Given the description of an element on the screen output the (x, y) to click on. 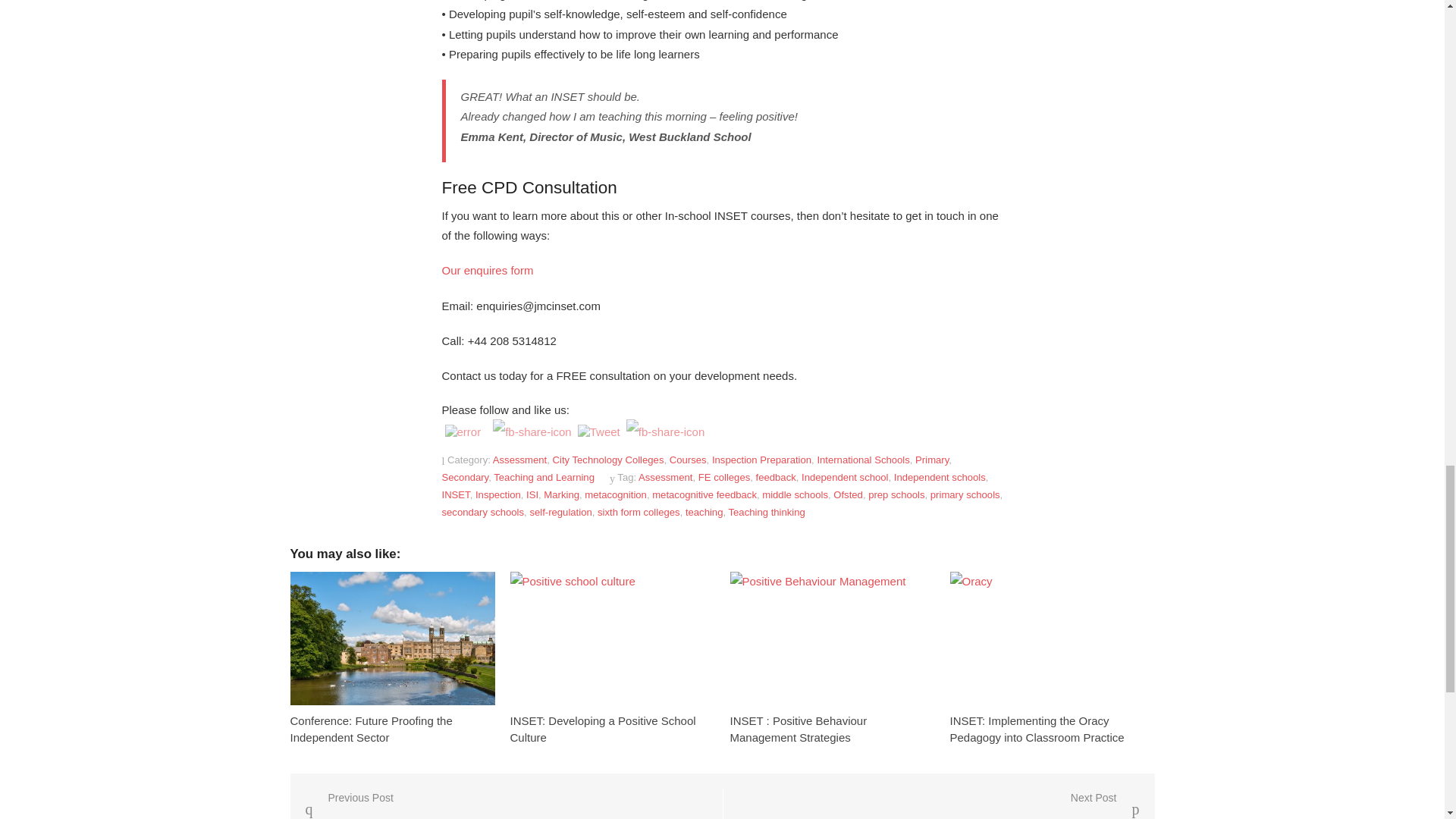
Pin Share (631, 428)
Facebook Share (528, 428)
Tweet (580, 430)
